Given the description of an element on the screen output the (x, y) to click on. 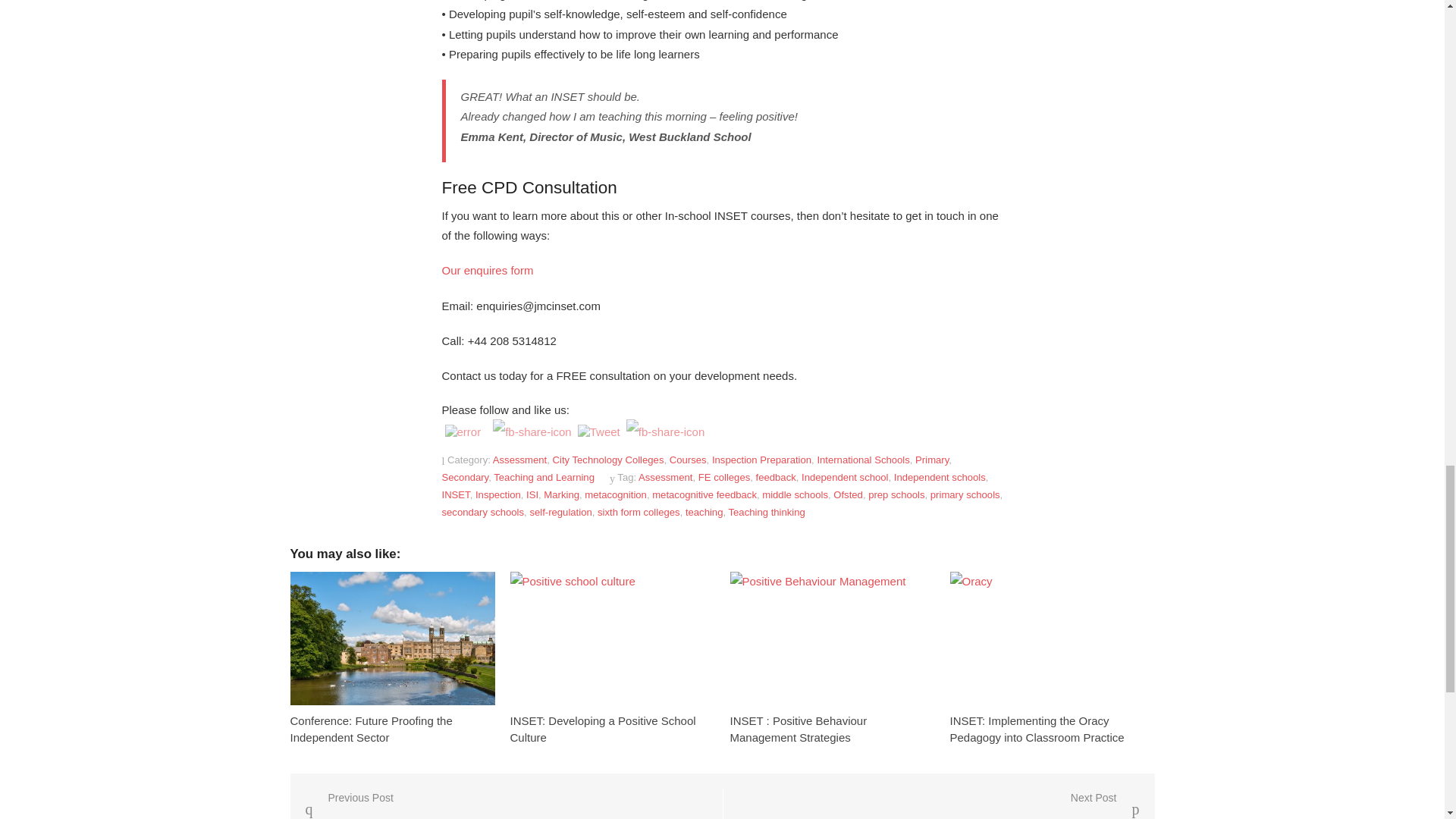
Pin Share (631, 428)
Facebook Share (528, 428)
Tweet (580, 430)
